Given the description of an element on the screen output the (x, y) to click on. 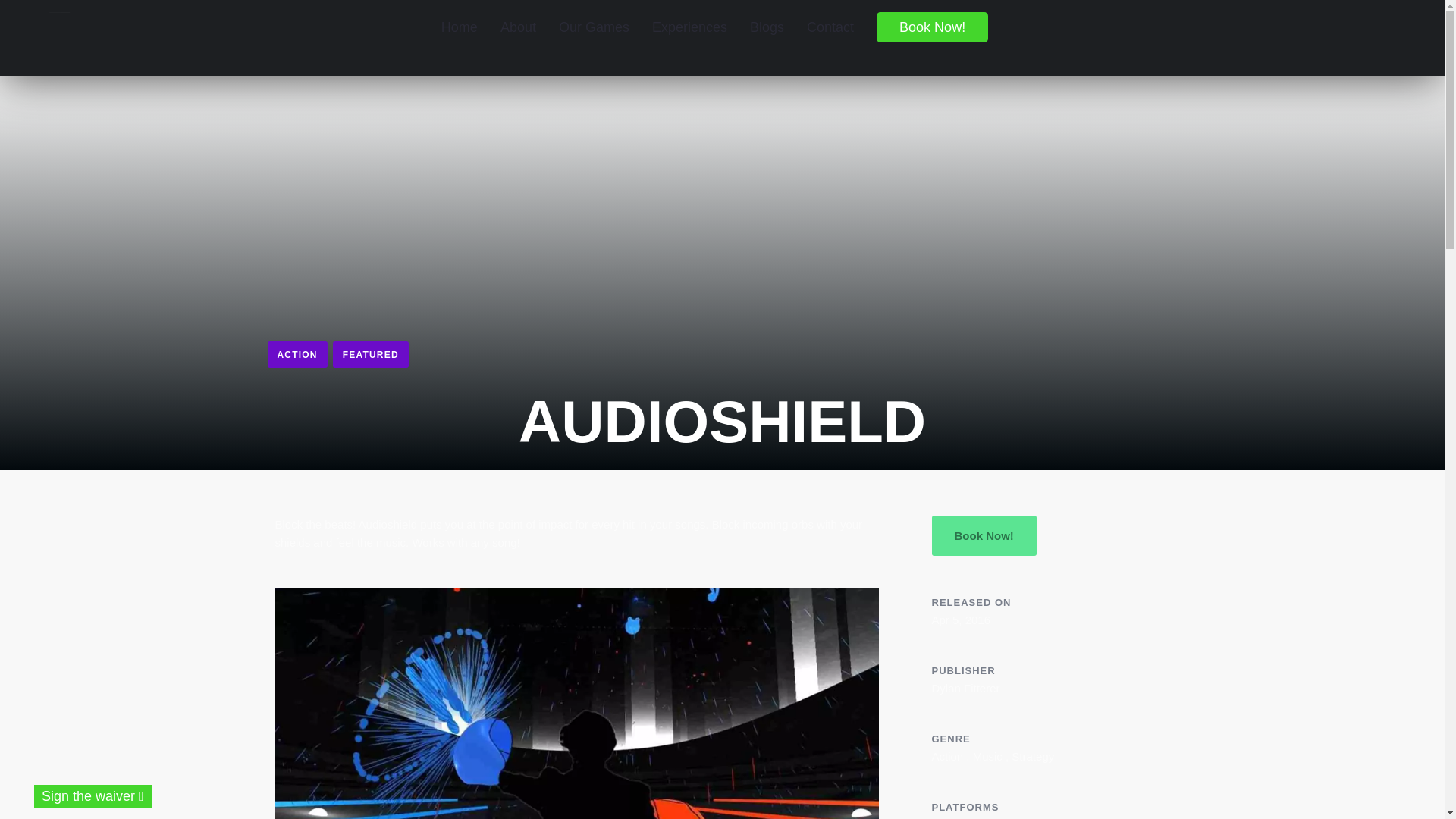
Home (459, 27)
Experiences (689, 27)
Contact (829, 27)
Blogs (766, 27)
Our Games (593, 27)
About (518, 27)
ACTION (296, 354)
FEATURED (371, 354)
Book Now! (931, 27)
Book Now! (983, 535)
